Given the description of an element on the screen output the (x, y) to click on. 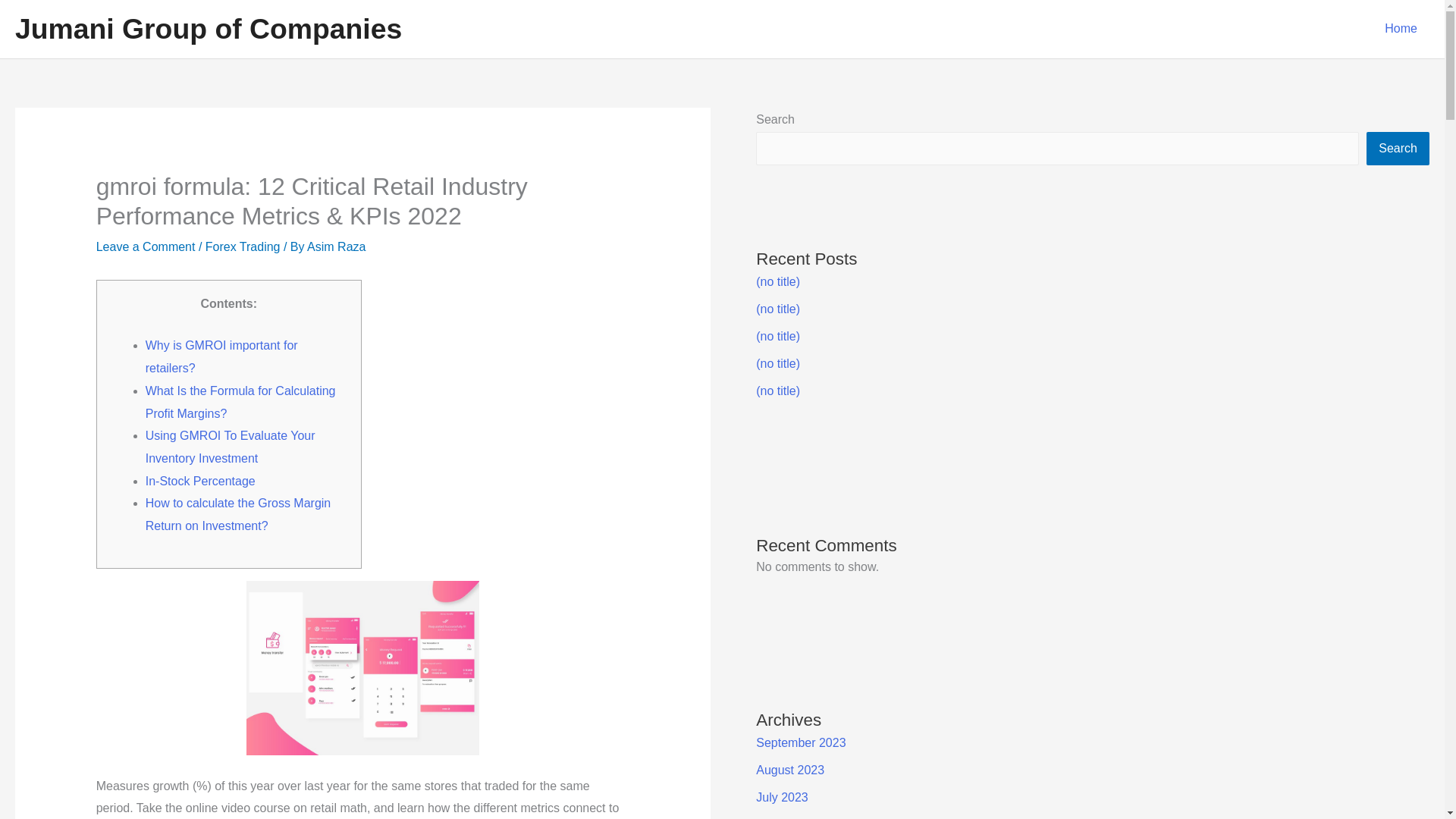
August 2023 (789, 769)
View all posts by Asim Raza (336, 246)
Leave a Comment (145, 246)
Search (1398, 148)
September 2023 (800, 742)
Forex Trading (243, 246)
Why is GMROI important for retailers? (221, 356)
What Is the Formula for Calculating Profit Margins? (240, 402)
Jumani Group of Companies (207, 29)
Home (1401, 28)
